Given the description of an element on the screen output the (x, y) to click on. 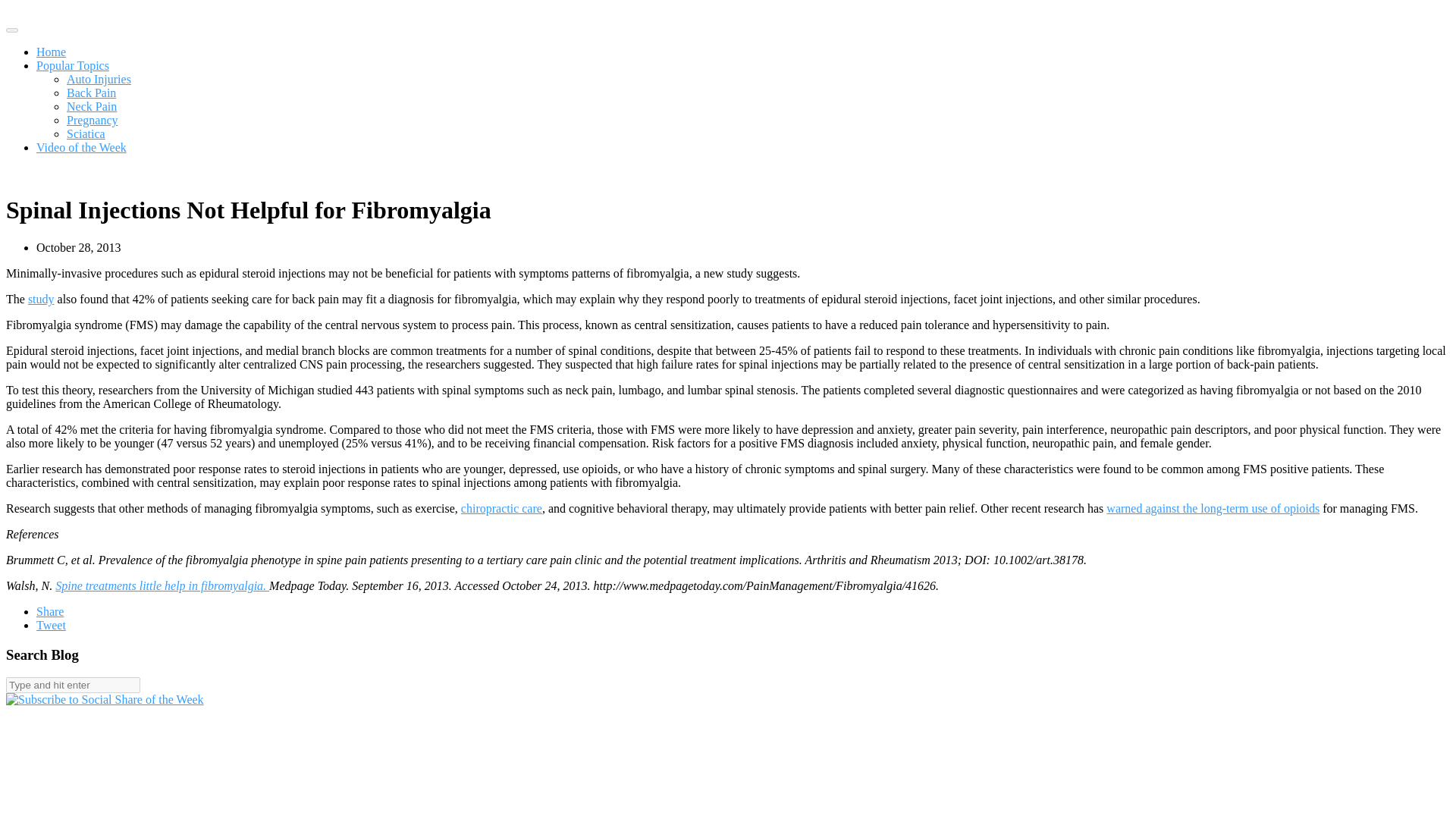
VIDEO: Poor Sleep Could Lead to Fibromyalgia (1048, 762)
study (346, 367)
Effectiveness of Back Pain Steroids Questioned (1052, 507)
FMS Study (346, 367)
Popular Topics (612, 30)
Video of the Week (728, 30)
Spinal Injections Not Helpful for Fibromyalgia (1041, 416)
Steroid Shots Ineffective For Back Pain (1061, 589)
Home (528, 30)
